Given the description of an element on the screen output the (x, y) to click on. 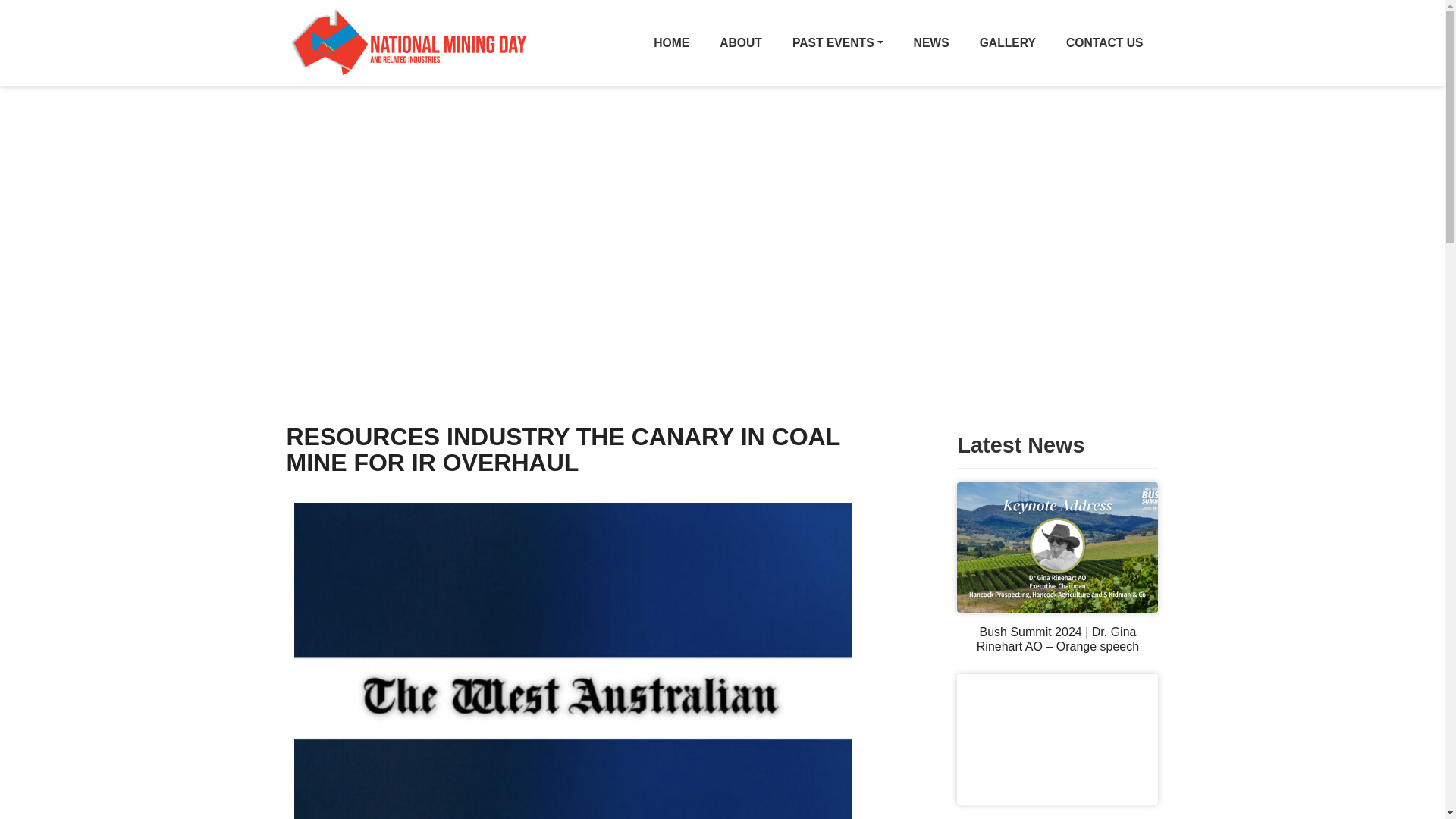
PAST EVENTS (837, 42)
News (930, 42)
NEWS (930, 42)
HOME (671, 42)
CONTACT US (1104, 42)
ABOUT (740, 42)
Home (671, 42)
Glencore Advertisement (1056, 817)
About (740, 42)
Contact Us (1104, 42)
